Given the description of an element on the screen output the (x, y) to click on. 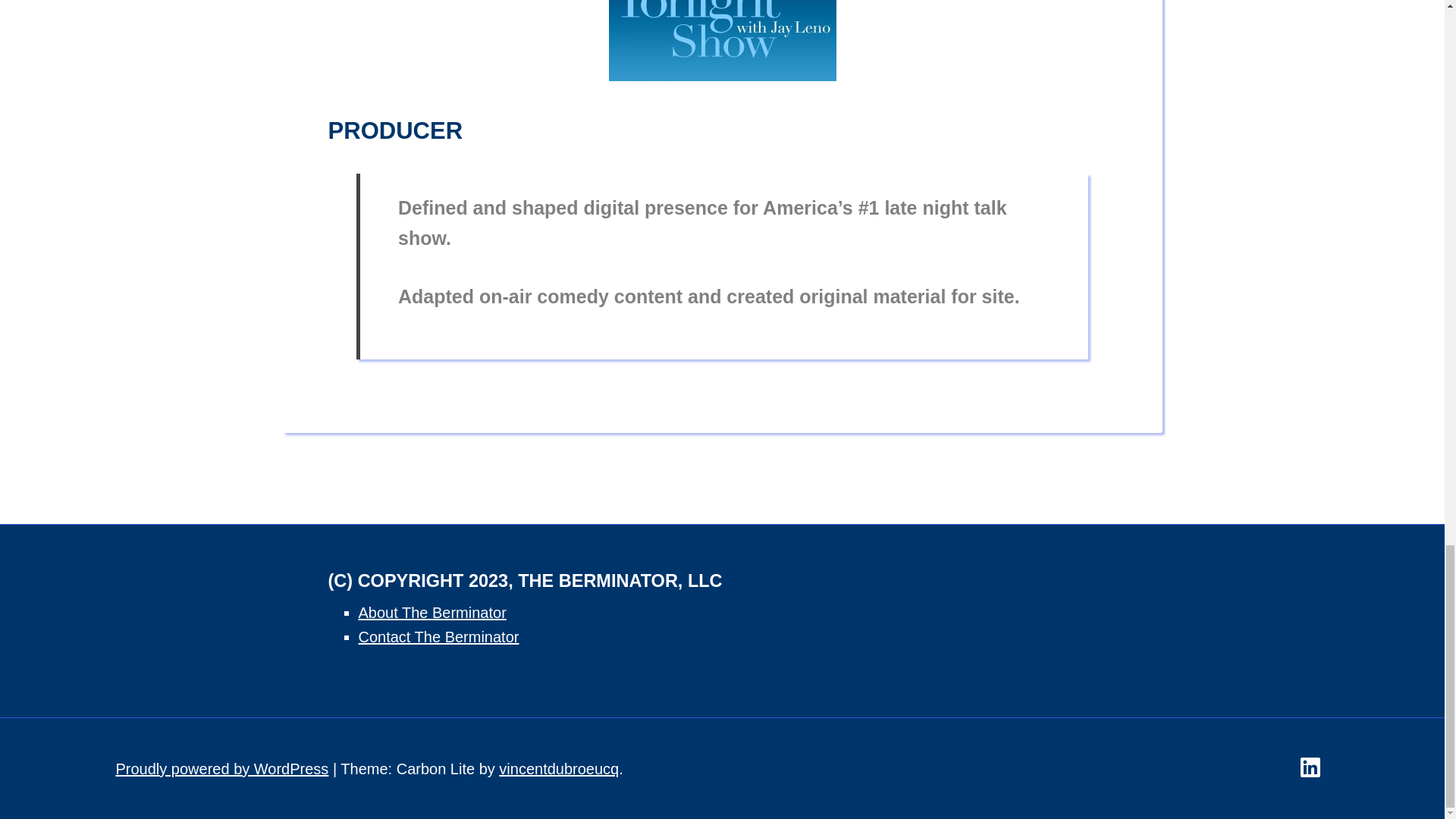
Contact The Berminator (438, 636)
Proudly powered by WordPress (222, 768)
About The Berminator (431, 612)
vincentdubroeucq (558, 768)
